Given the description of an element on the screen output the (x, y) to click on. 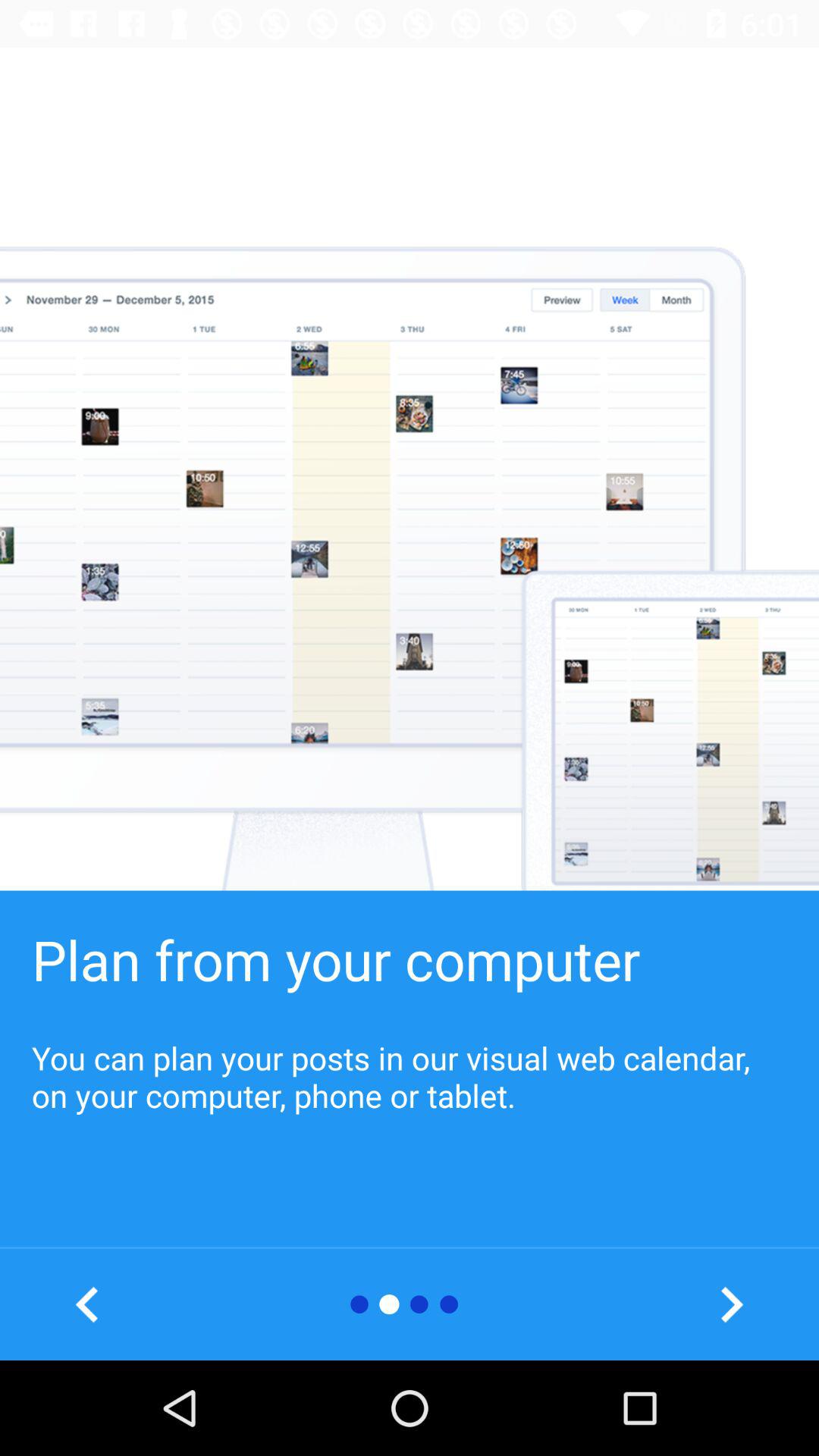
go back (87, 1304)
